Given the description of an element on the screen output the (x, y) to click on. 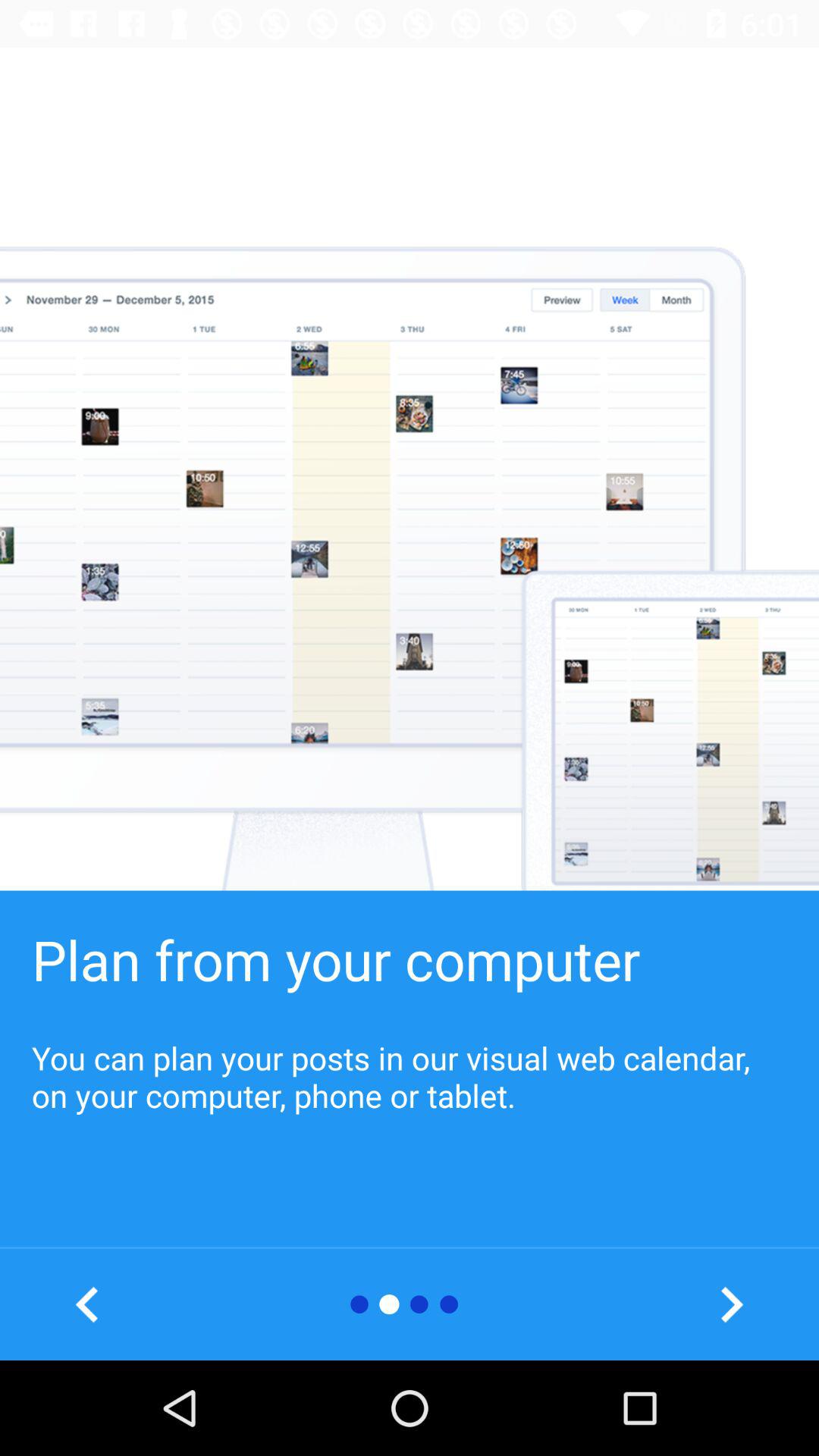
go back (87, 1304)
